Given the description of an element on the screen output the (x, y) to click on. 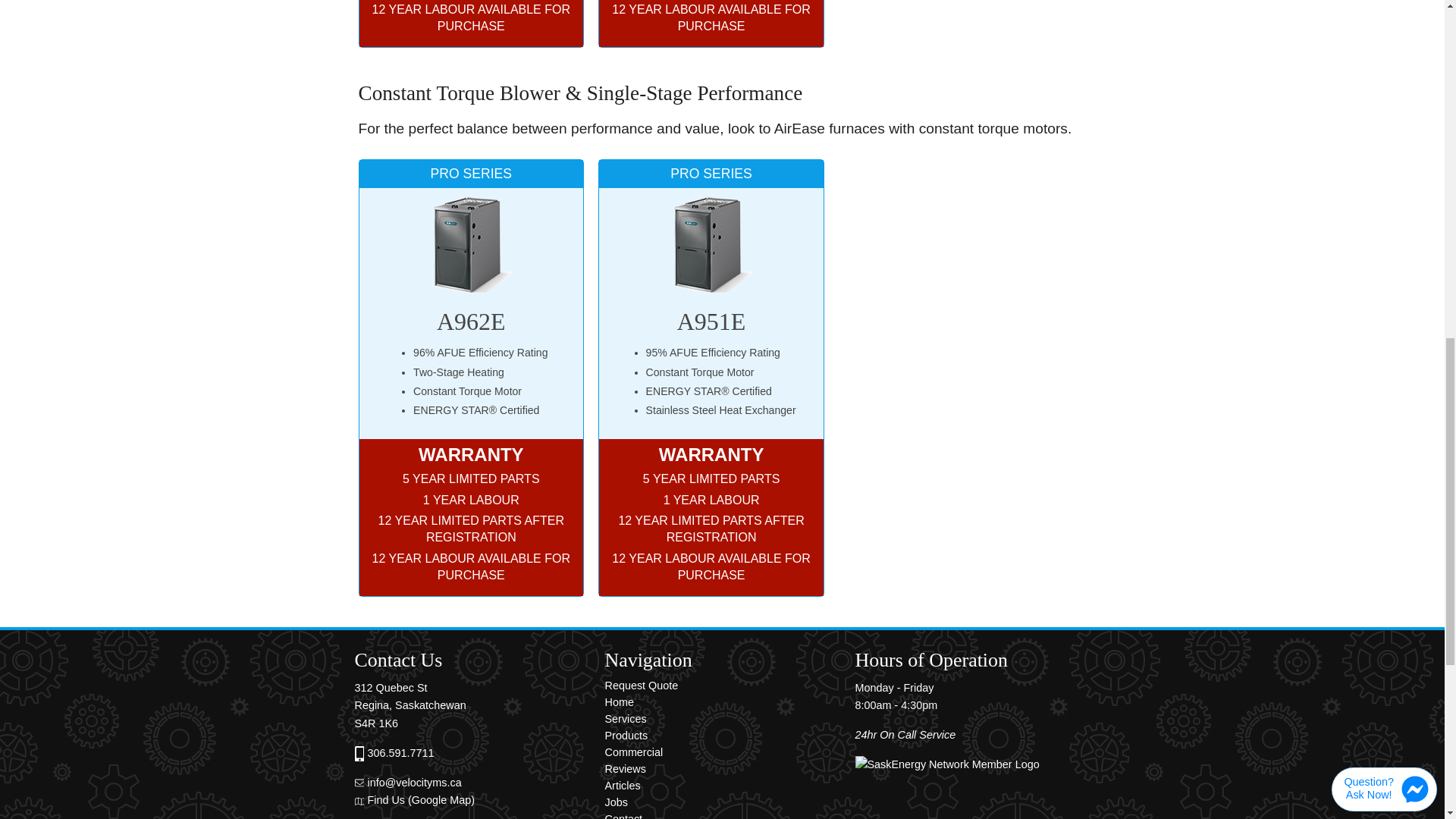
AirEase Furnace A951E (710, 246)
312 Quebec St (391, 687)
306.591.7711 (399, 752)
AirEase Furnace A962E (470, 246)
